Given the description of an element on the screen output the (x, y) to click on. 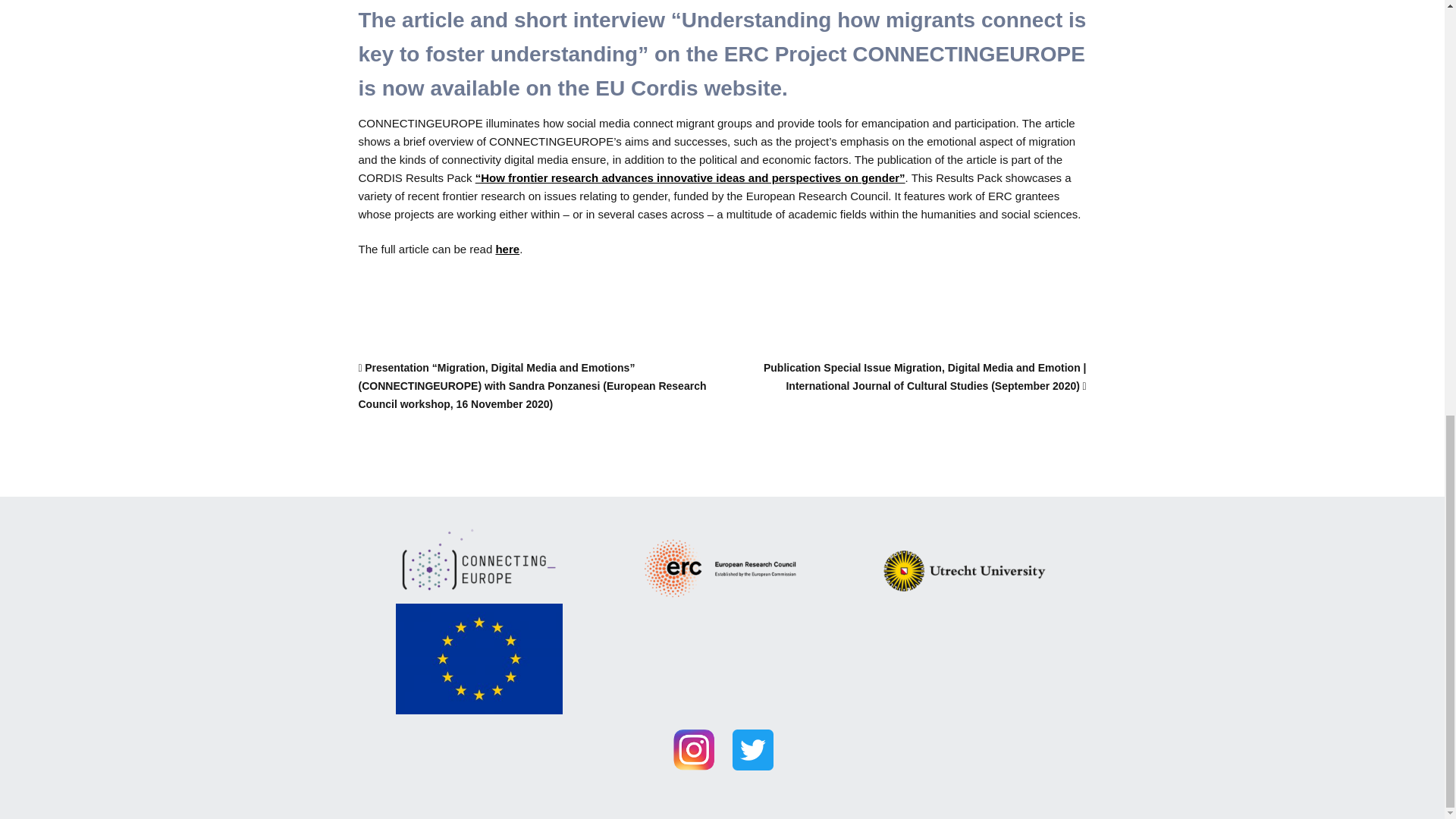
here (507, 248)
